Given the description of an element on the screen output the (x, y) to click on. 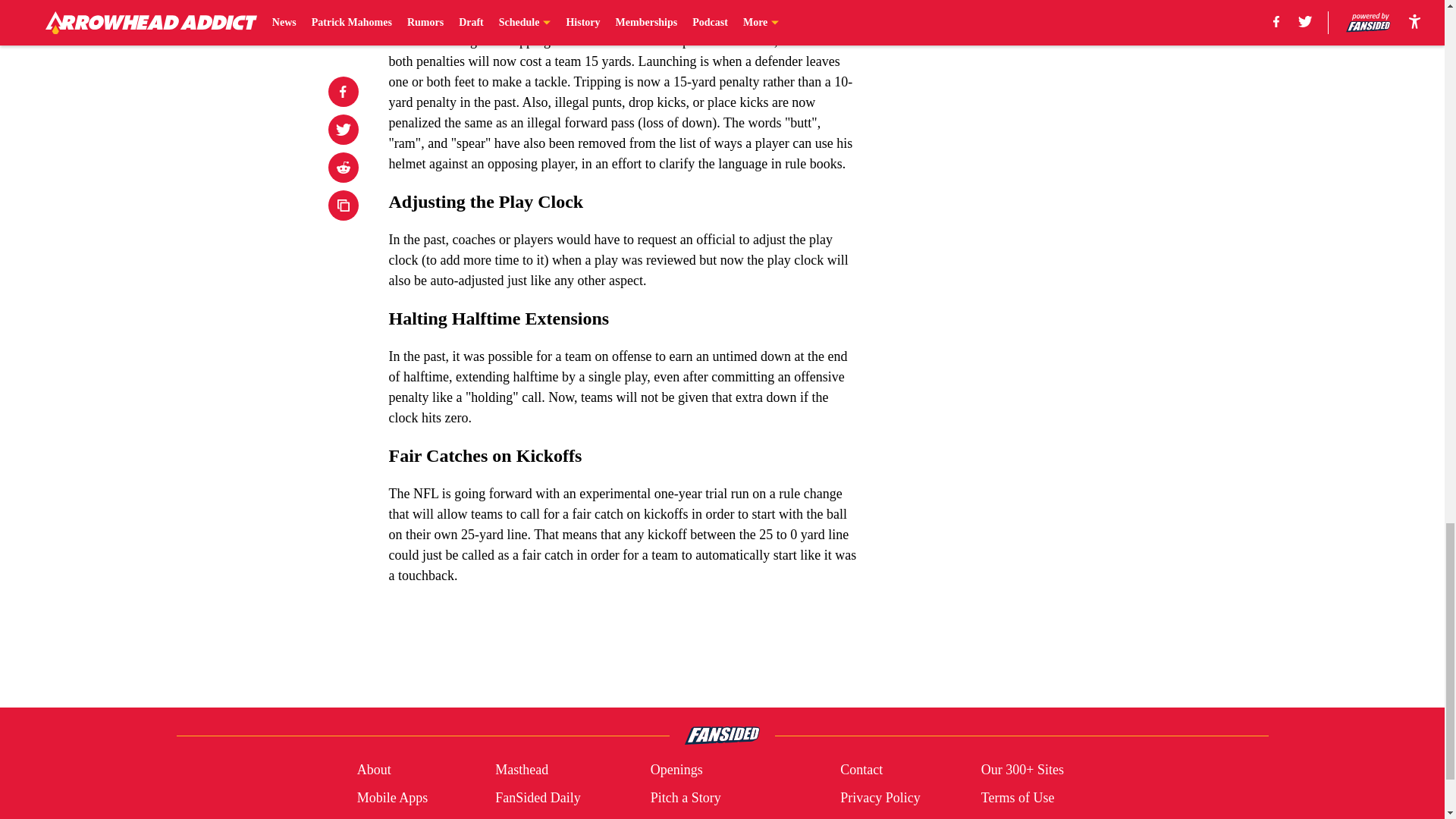
Pitch a Story (685, 797)
Cookie Policy (395, 817)
Accessibility Statement (714, 817)
Contact (861, 770)
FanSided Daily (537, 797)
Privacy Policy (880, 797)
Mobile Apps (392, 797)
About (373, 770)
Legal Disclaimer (542, 817)
Openings (676, 770)
Masthead (521, 770)
Terms of Use (1017, 797)
